Given the description of an element on the screen output the (x, y) to click on. 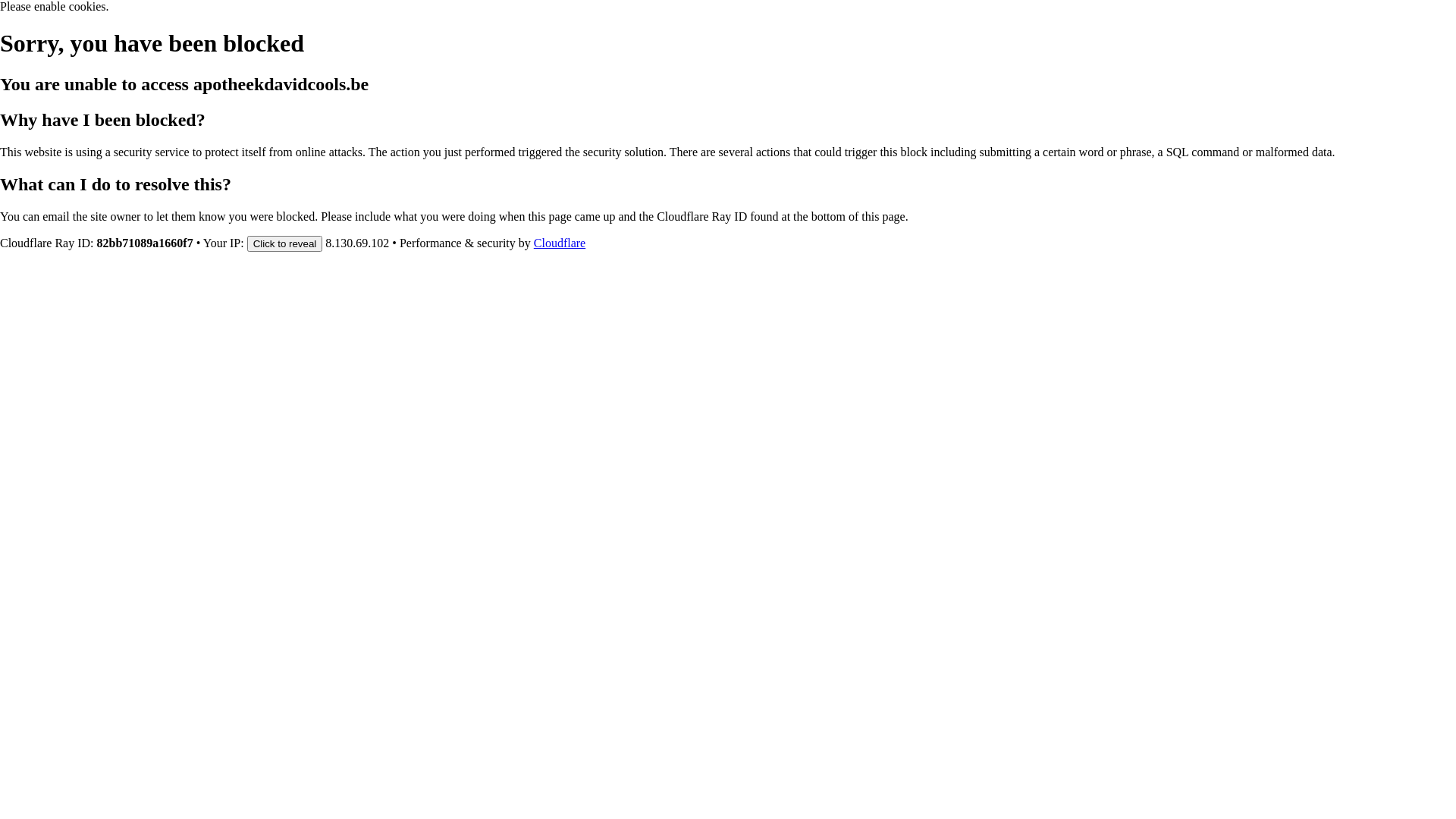
Cloudflare Element type: text (559, 242)
Click to reveal Element type: text (285, 243)
